Given the description of an element on the screen output the (x, y) to click on. 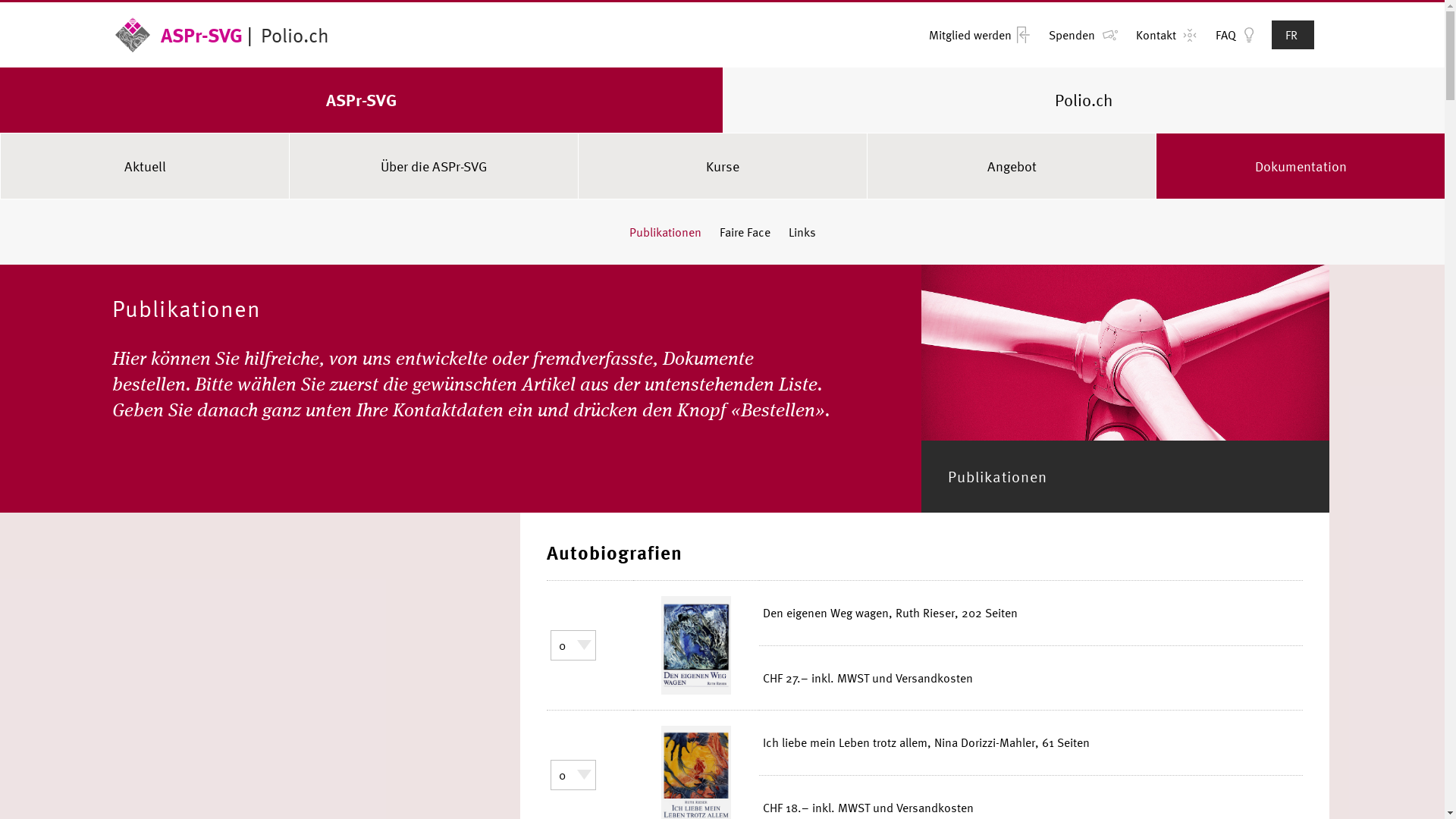
Polio.ch Element type: text (1082, 99)
Publikationen Element type: text (665, 231)
FAQ Element type: text (1225, 34)
ASPr-SVG Element type: text (361, 99)
Links Element type: text (802, 231)
Mitglied werden Element type: text (969, 34)
Spenden Element type: text (1071, 34)
Aktuell Element type: text (144, 165)
Faire Face Element type: text (744, 231)
Polio.ch Element type: text (293, 34)
Kontakt Element type: text (1155, 34)
Dokumentation Element type: text (1300, 165)
ASPr-SVG Element type: text (178, 34)
FR Element type: text (1292, 34)
Angebot Element type: text (1011, 165)
Kurse Element type: text (722, 165)
